Given the description of an element on the screen output the (x, y) to click on. 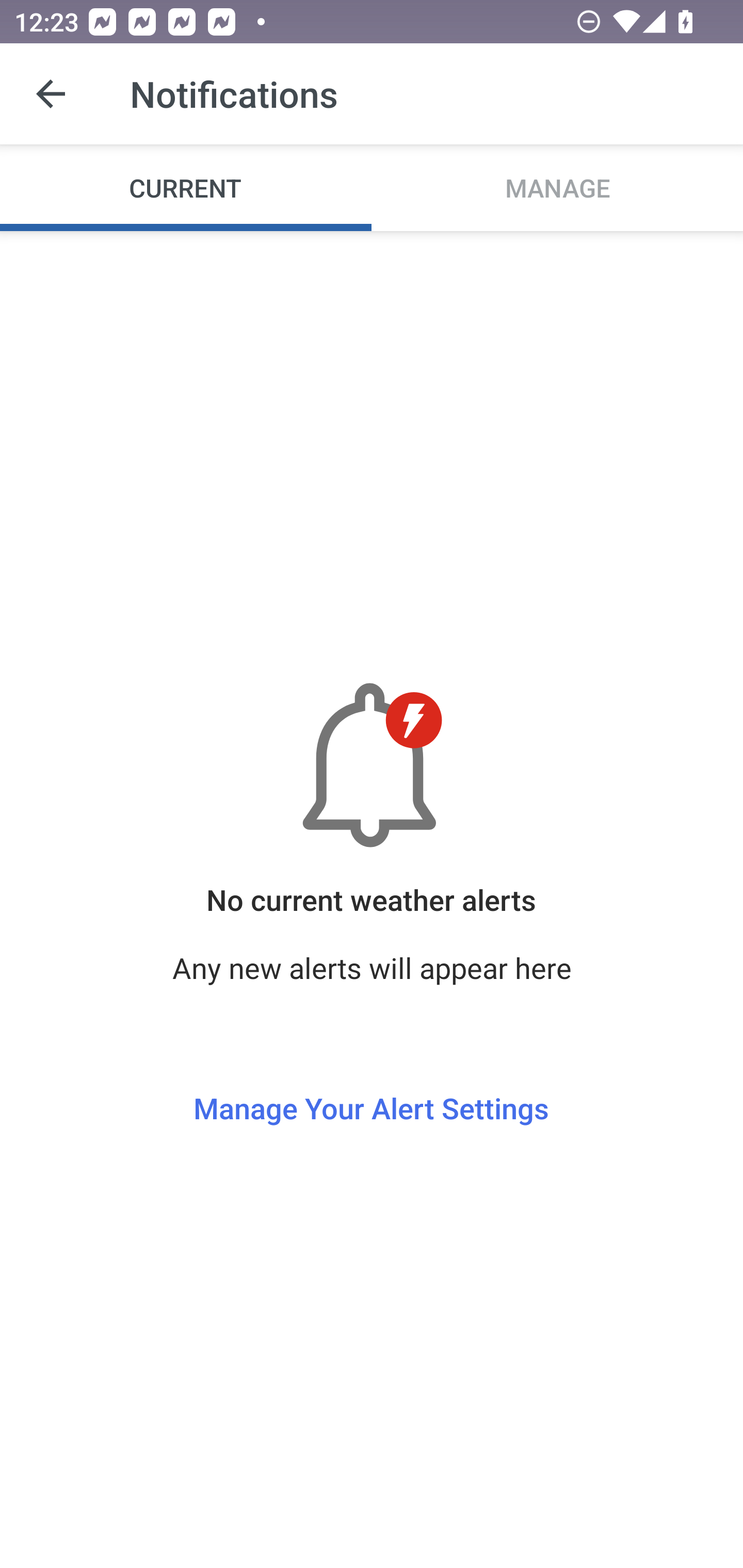
Navigate up (50, 93)
Manage Tab MANAGE (557, 187)
Manage Your Alert Settings (371, 1071)
